Given the description of an element on the screen output the (x, y) to click on. 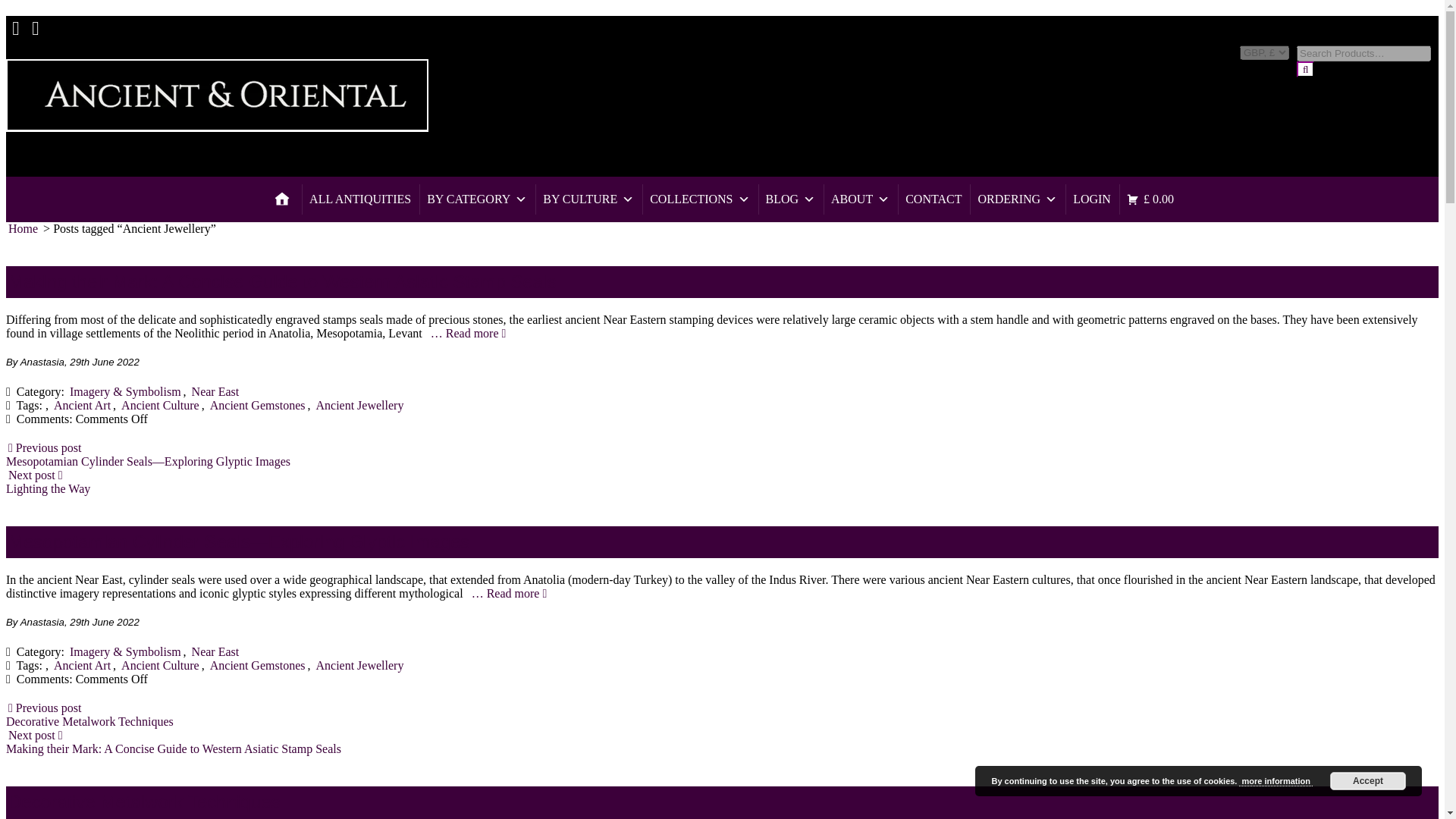
BY CATEGORY (476, 199)
facebook (15, 21)
ALL ANTIQUITIES (360, 199)
fa fa-home (282, 199)
instagram (35, 21)
